Given the description of an element on the screen output the (x, y) to click on. 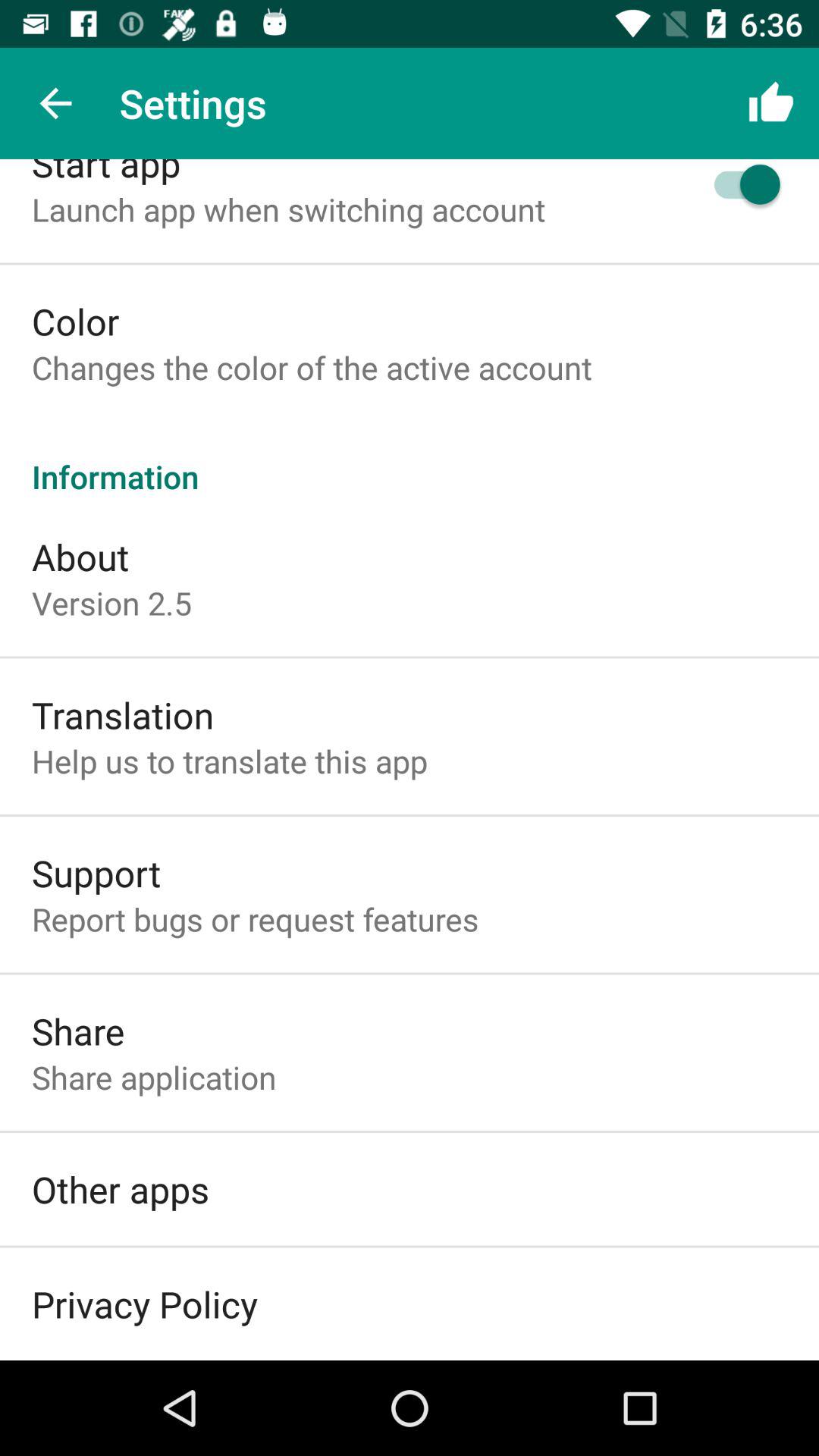
press the item above share icon (254, 918)
